Given the description of an element on the screen output the (x, y) to click on. 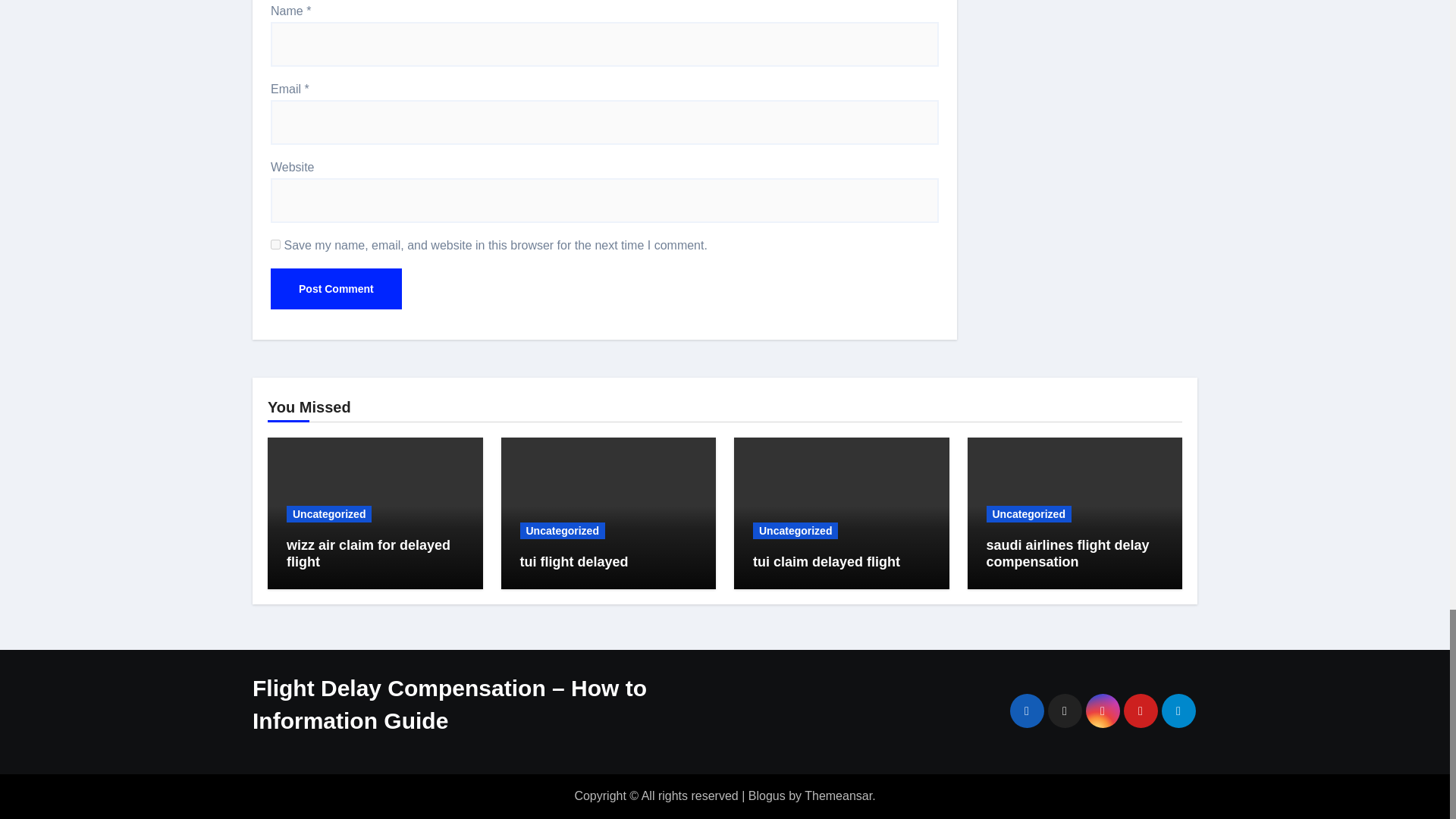
yes (275, 244)
Permalink to: saudi airlines flight delay compensation (1066, 553)
Permalink to: tui flight delayed (573, 561)
Post Comment (335, 288)
Permalink to: wizz air claim for delayed flight (367, 553)
Permalink to: tui claim delayed flight (825, 561)
